Given the description of an element on the screen output the (x, y) to click on. 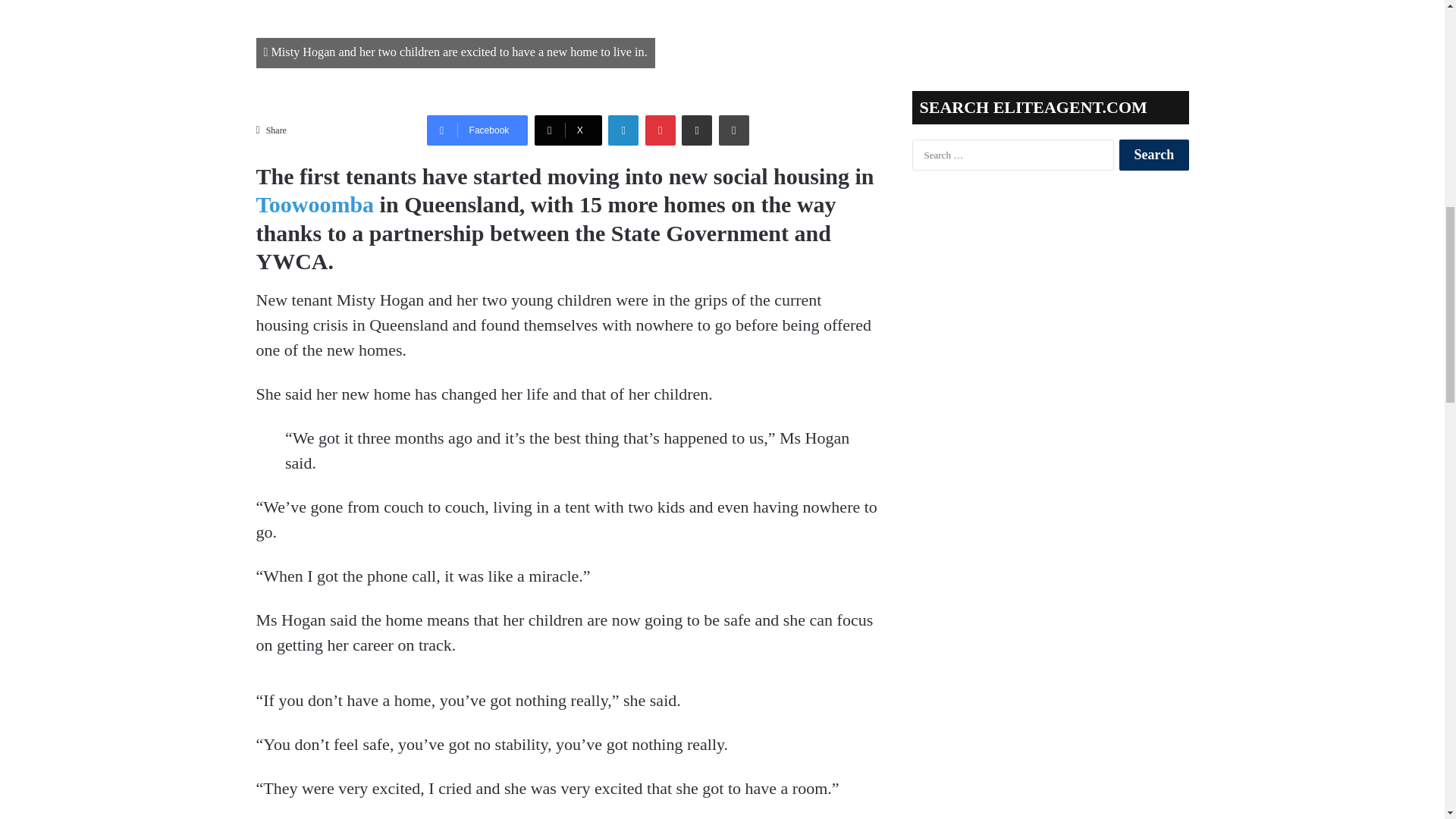
Print (734, 130)
Search (1153, 154)
Search (1153, 154)
Pinterest (660, 130)
X (568, 130)
Share via Email (696, 130)
LinkedIn (623, 130)
Facebook (477, 130)
